Given the description of an element on the screen output the (x, y) to click on. 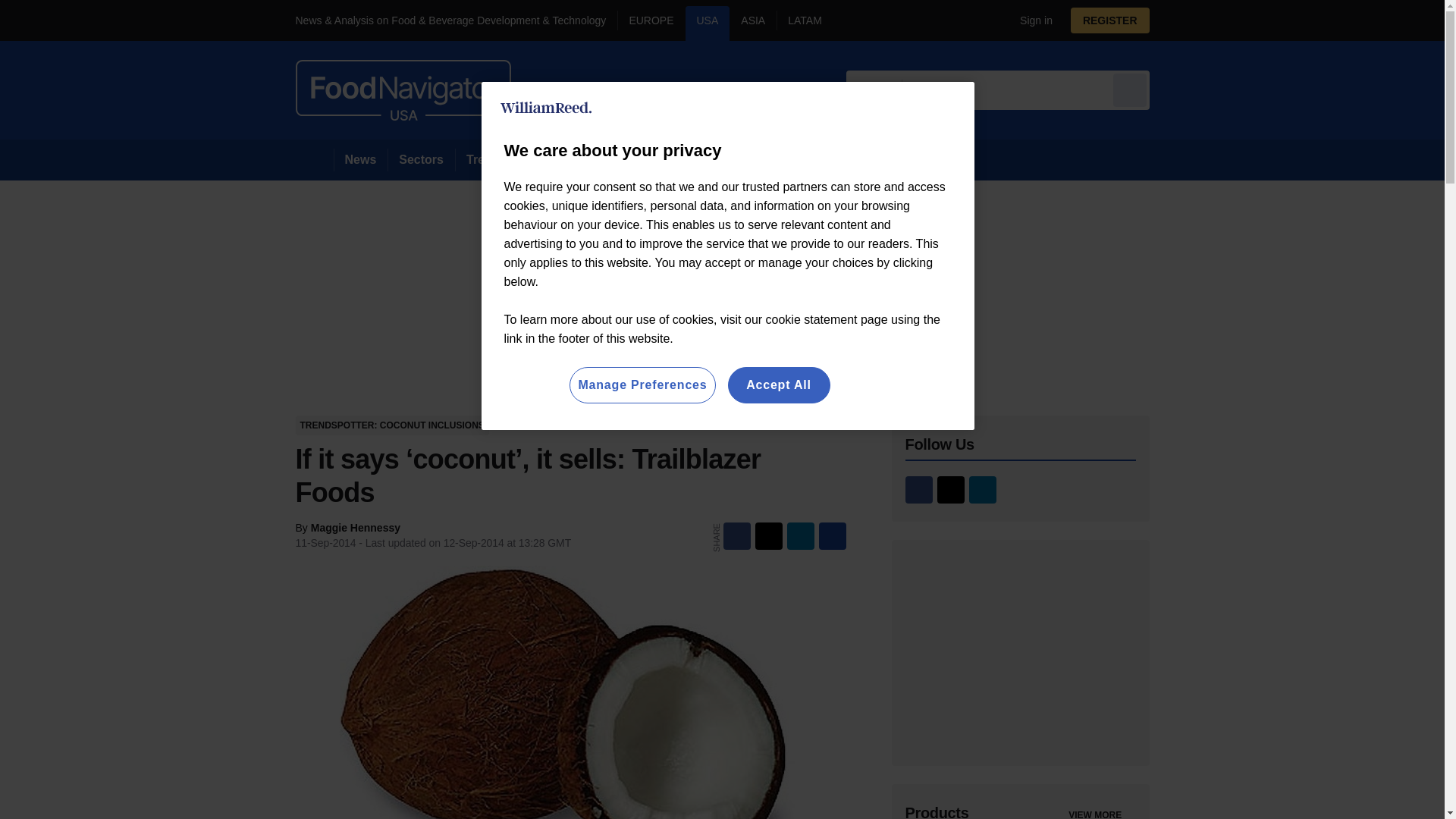
REGISTER (1110, 20)
ASIA (752, 22)
USA (707, 22)
News (360, 159)
3rd party ad content (1020, 652)
Sectors (420, 159)
Send (1129, 90)
EUROPE (650, 22)
LATAM (804, 22)
Send (1129, 89)
William Reed (545, 107)
Home (313, 159)
FoodNavigator USA (403, 89)
My account (1114, 20)
